Given the description of an element on the screen output the (x, y) to click on. 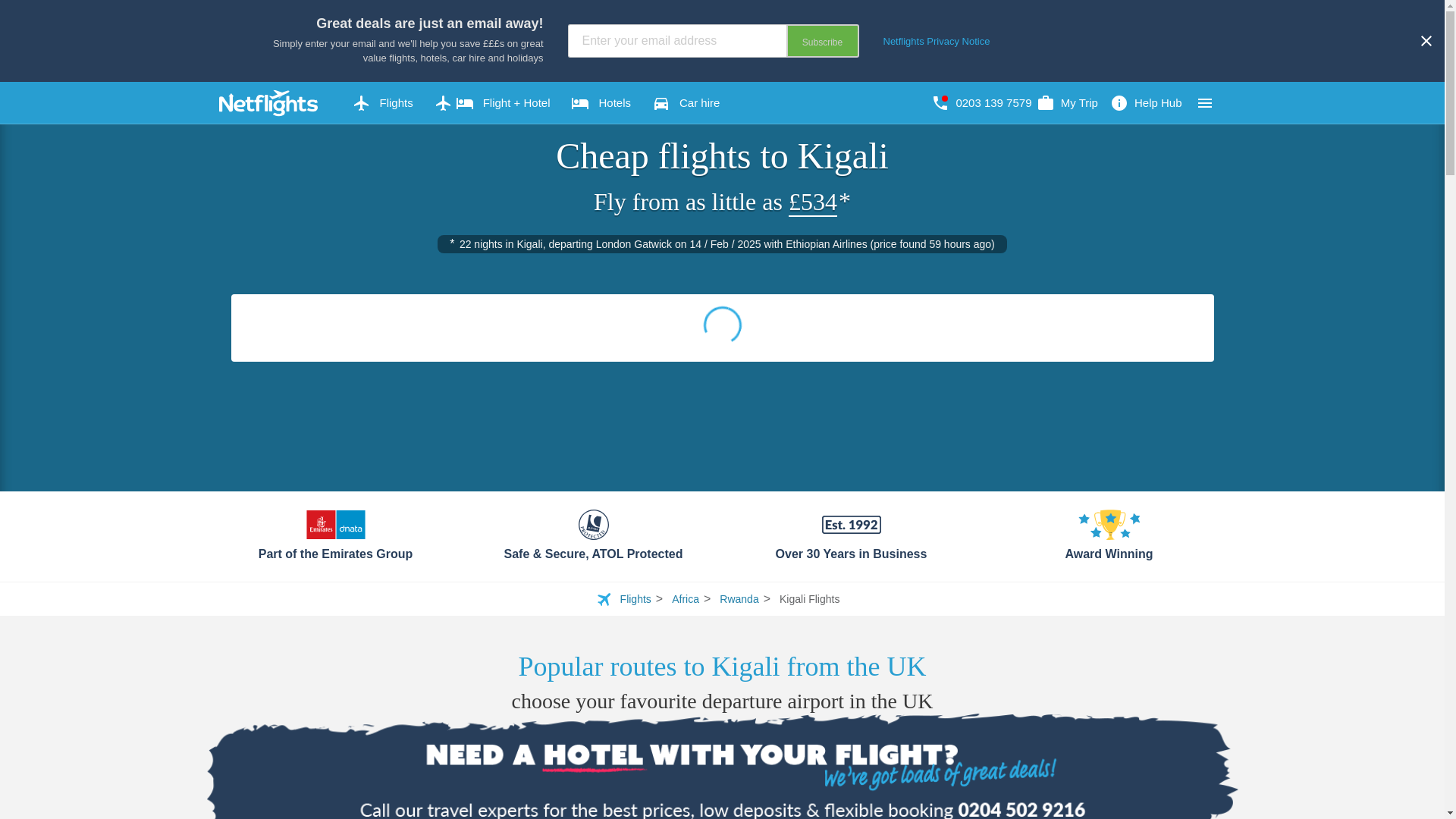
Flights (635, 598)
Flights (382, 102)
My Trip (1066, 102)
Netflights Privacy Notice (936, 41)
Africa (684, 598)
Hotels (600, 102)
Hotels (600, 102)
Flights (382, 102)
Help (1145, 102)
Help Hub (1145, 102)
